Given the description of an element on the screen output the (x, y) to click on. 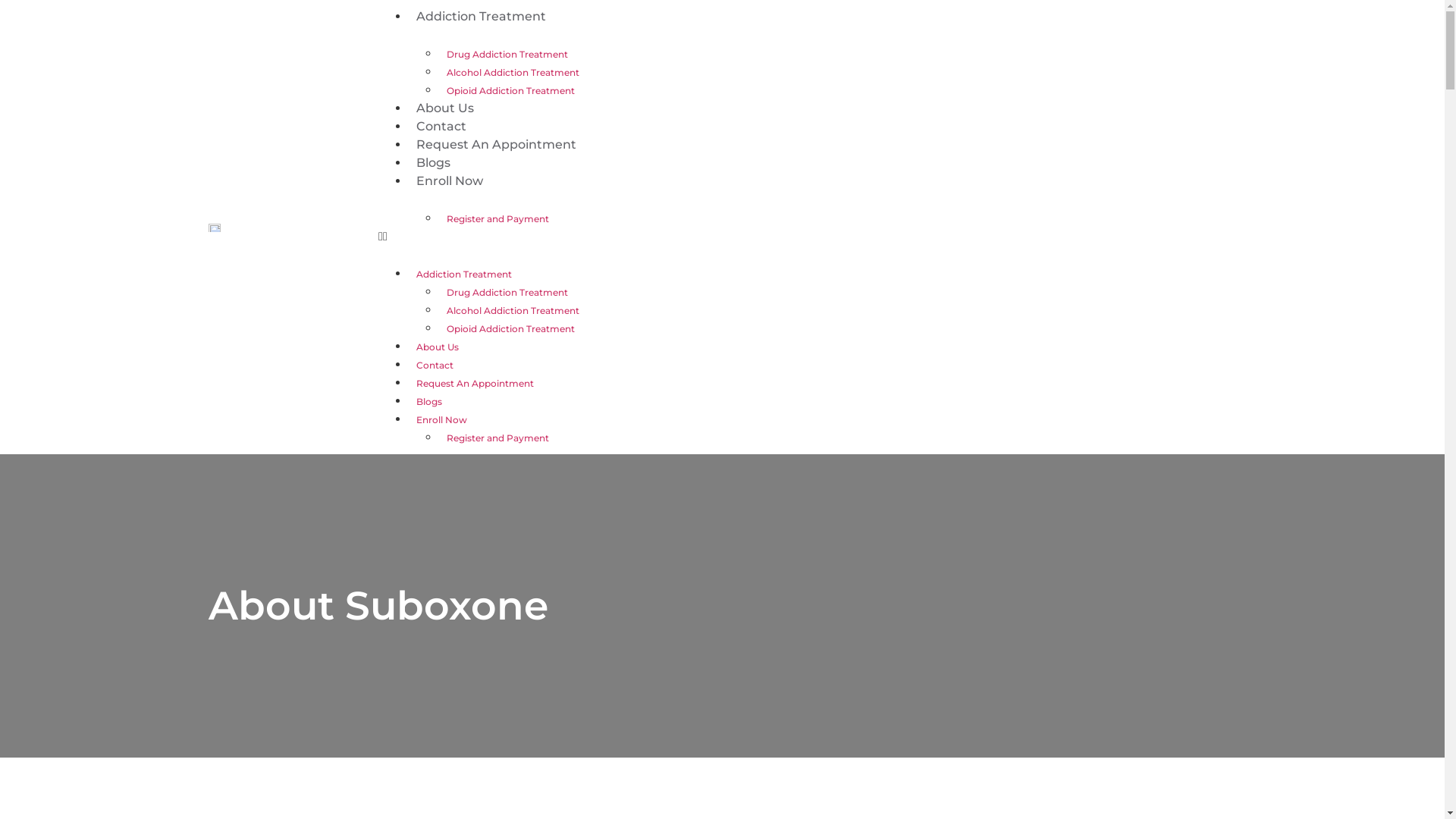
Enroll Now Element type: text (449, 180)
About Us Element type: text (444, 107)
Opioid Addiction Treatment Element type: text (510, 90)
Drug Addiction Treatment Element type: text (507, 54)
Contact Element type: text (440, 126)
Blogs Element type: text (428, 401)
Alcohol Addiction Treatment Element type: text (512, 72)
Drug Addiction Treatment Element type: text (507, 292)
About Us Element type: text (437, 346)
Request An Appointment Element type: text (474, 383)
Request An Appointment Element type: text (495, 144)
Blogs Element type: text (433, 162)
Opioid Addiction Treatment Element type: text (510, 328)
Enroll Now Element type: text (441, 419)
Register and Payment Element type: text (497, 437)
Alcohol Addiction Treatment Element type: text (512, 310)
Contact Element type: text (434, 364)
Addiction Treatment Element type: text (480, 16)
Addiction Treatment Element type: text (463, 273)
Register and Payment Element type: text (497, 218)
